Given the description of an element on the screen output the (x, y) to click on. 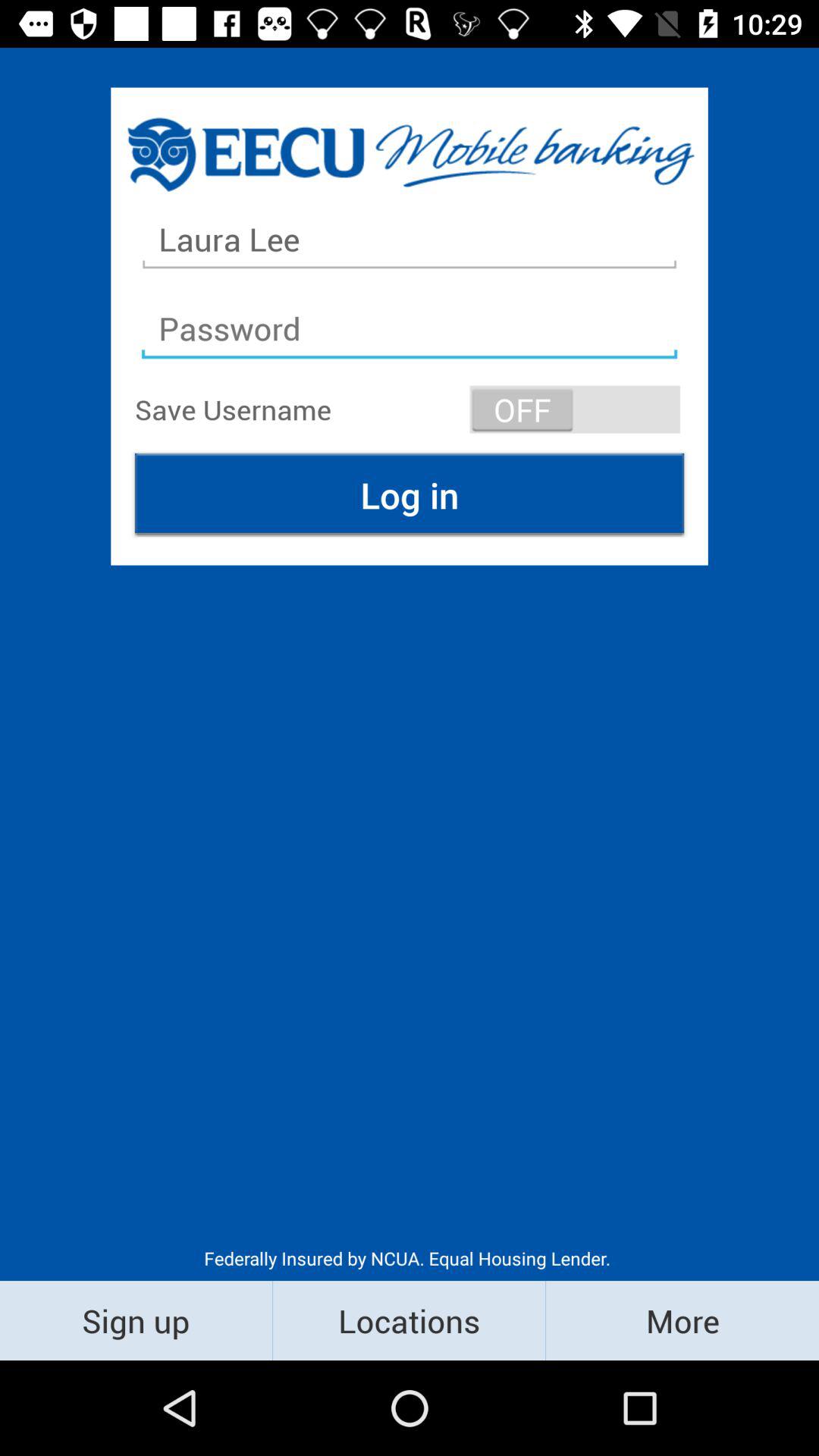
scroll to log in (409, 494)
